Given the description of an element on the screen output the (x, y) to click on. 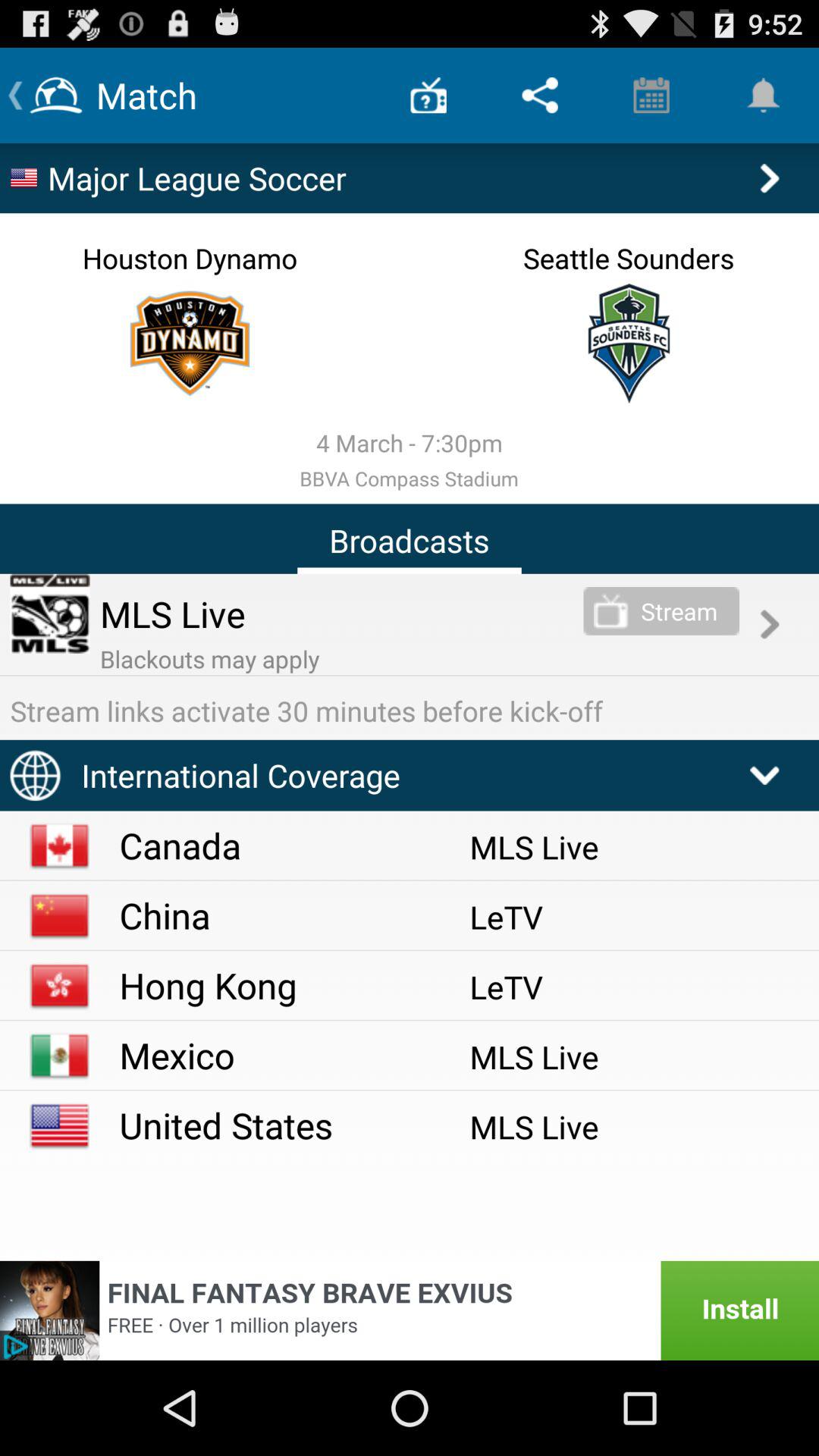
tap app next to the match item (428, 95)
